Given the description of an element on the screen output the (x, y) to click on. 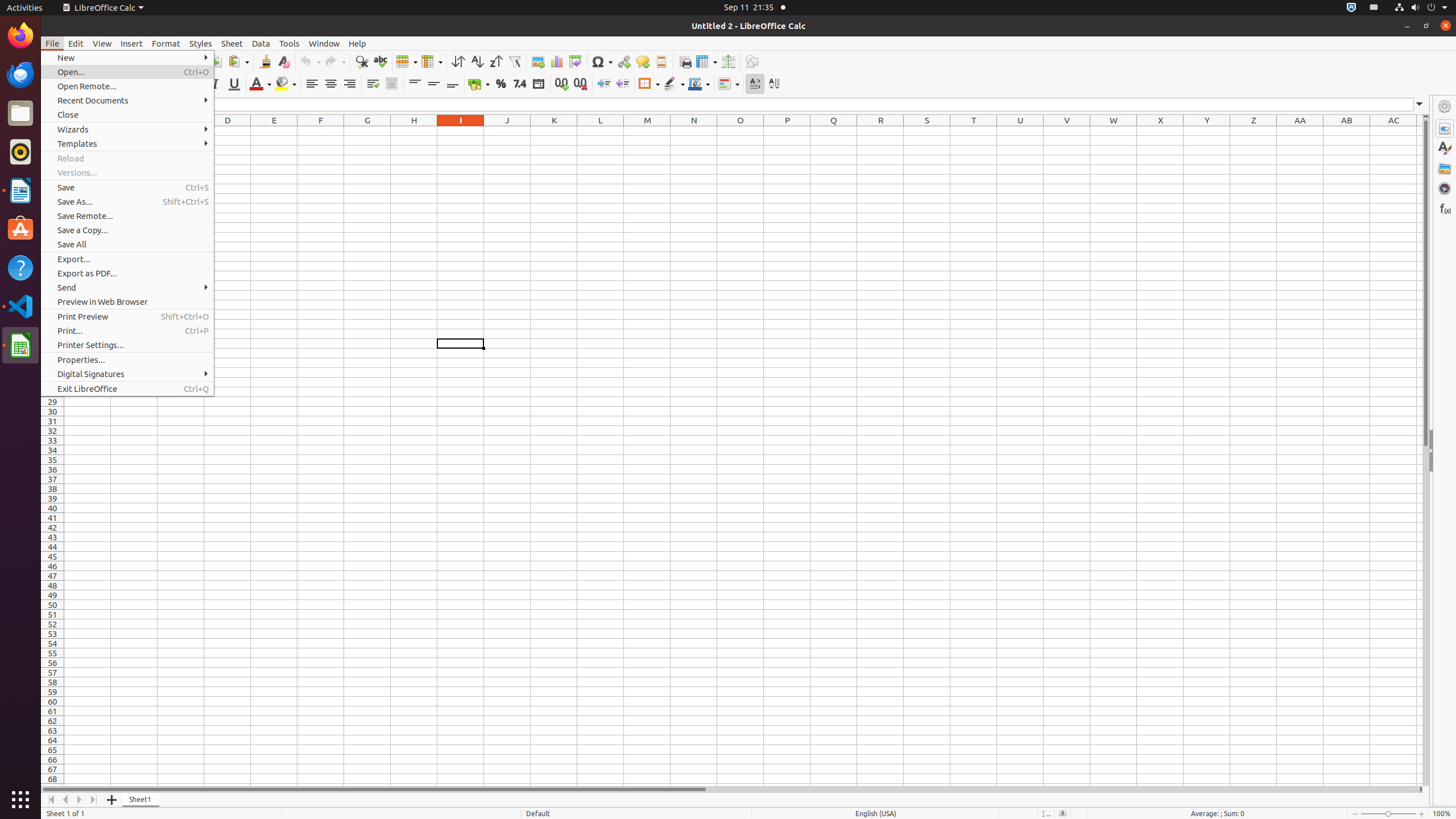
Print Area Element type: push-button (684, 61)
Sort Ascending Element type: push-button (476, 61)
Conditional Element type: push-button (728, 83)
F1 Element type: table-cell (320, 130)
Sheet Element type: menu (231, 43)
